Given the description of an element on the screen output the (x, y) to click on. 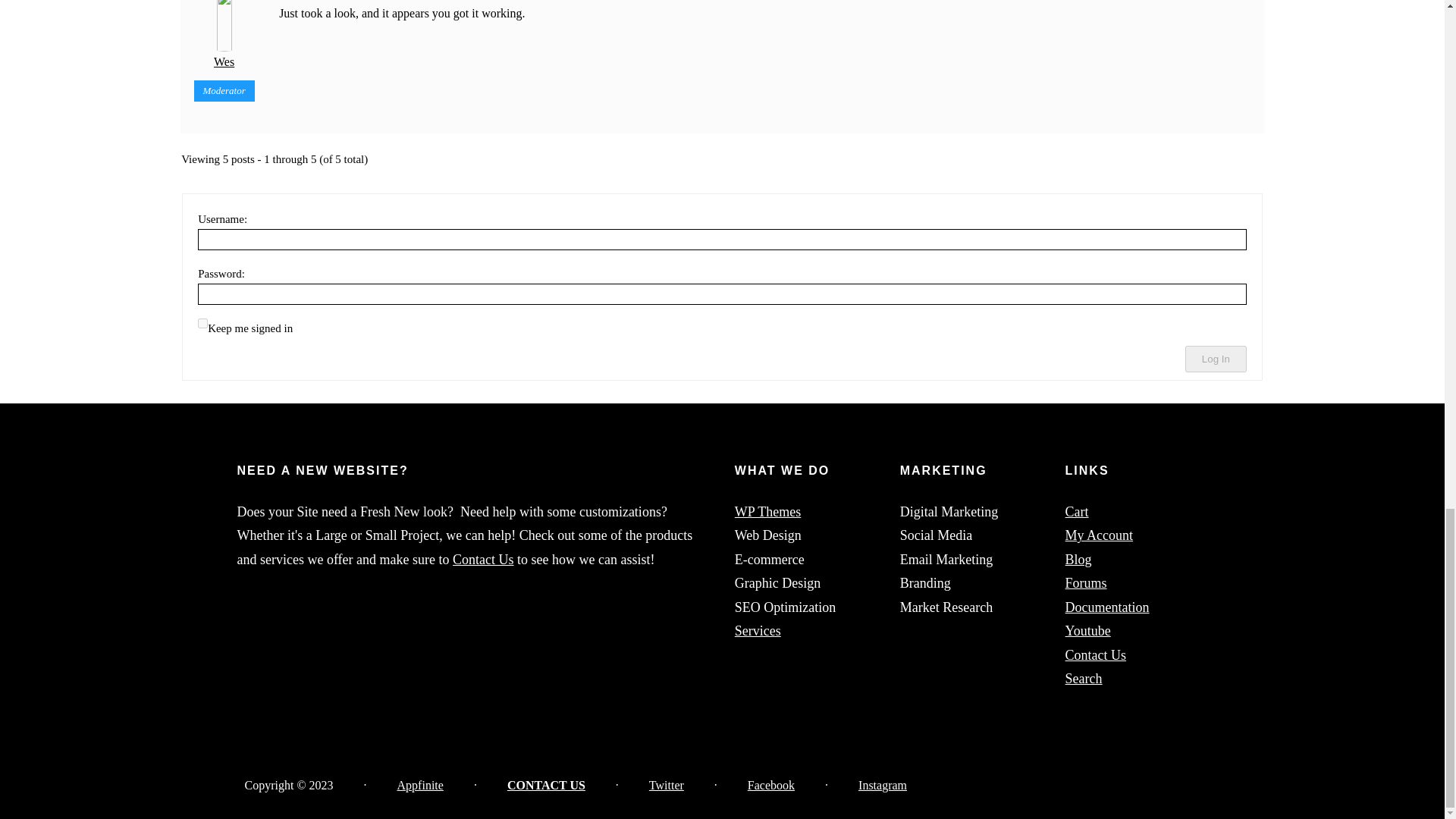
Log In (1215, 358)
Wes (223, 36)
WP Themes (768, 511)
CONTACT US (545, 784)
Contact Us (1095, 654)
Youtube (1087, 630)
Contact Us (482, 559)
View Wes's profile (223, 36)
My Account (1099, 534)
Services (757, 630)
Documentation (1107, 607)
Appfinite (420, 784)
forever (203, 323)
Search (1083, 678)
Forums (1085, 582)
